Given the description of an element on the screen output the (x, y) to click on. 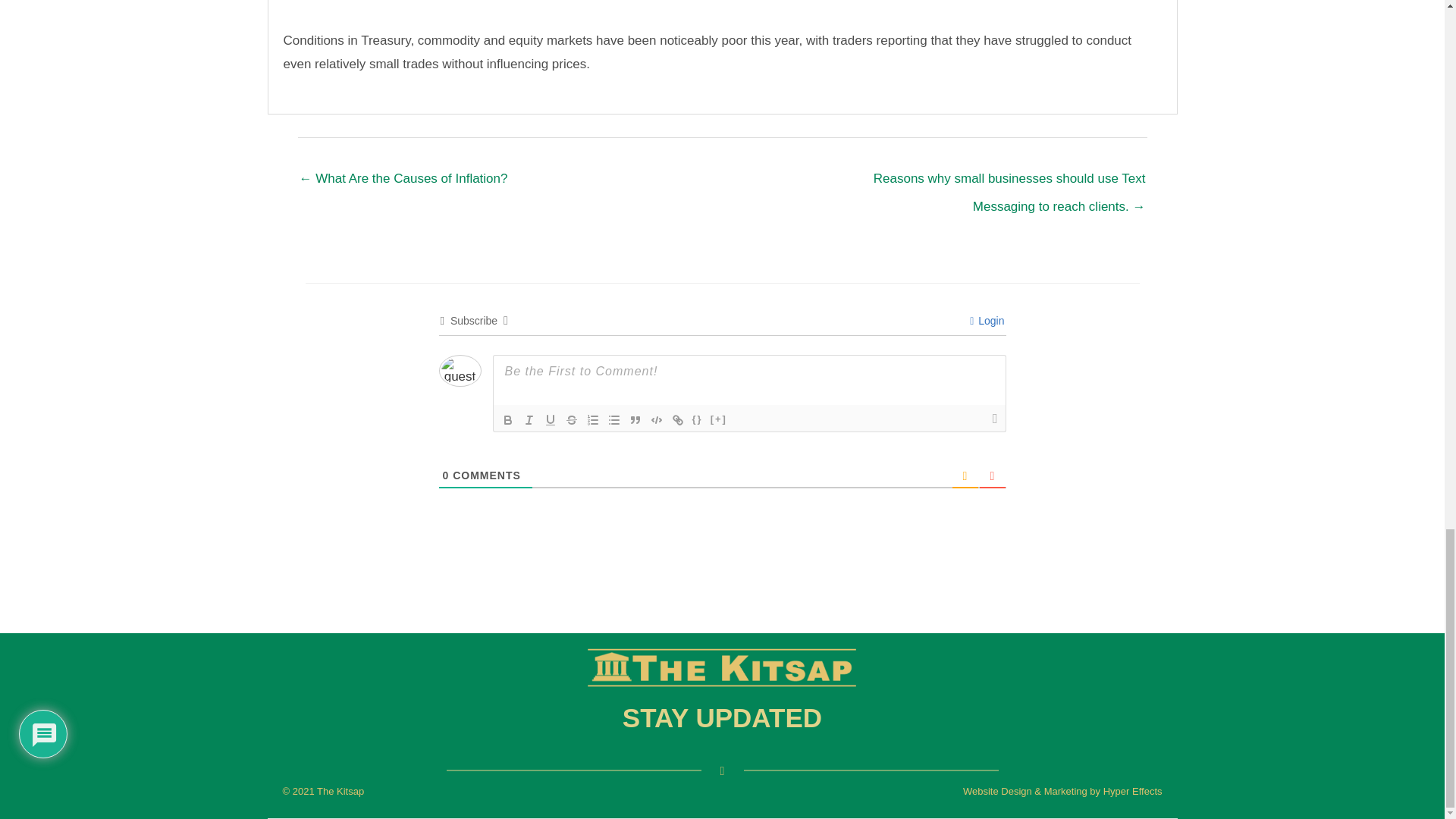
bullet (614, 420)
Unordered List (614, 420)
ordered (593, 420)
Link (677, 420)
Italic (529, 420)
Underline (550, 420)
Blockquote (635, 420)
Login (986, 320)
Code Block (656, 420)
Bold (507, 420)
Strike (571, 420)
Ordered List (593, 420)
Source Code (697, 420)
